Given the description of an element on the screen output the (x, y) to click on. 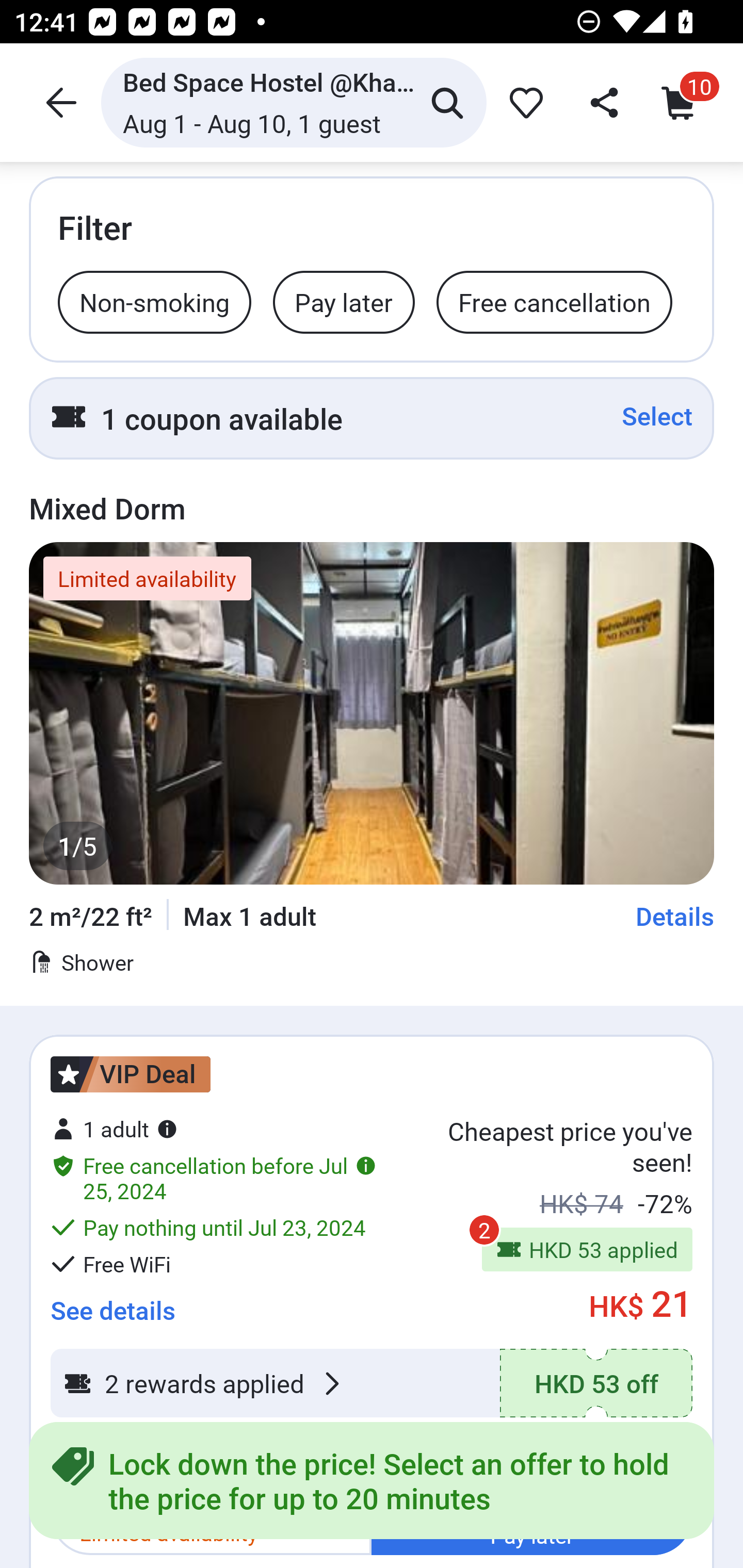
header icon (59, 102)
favorite_icon 0dbe6efb (522, 102)
share_header_icon (601, 102)
Cart icon cart_item_count 10 (683, 102)
Non-smoking (154, 301)
Pay later (343, 301)
Free cancellation (554, 301)
Select (656, 416)
1 coupon available Select (371, 417)
image (371, 713)
Details (674, 916)
Free cancellation before Jul 25, 2024 (213, 1178)
See details (112, 1303)
